Given the description of an element on the screen output the (x, y) to click on. 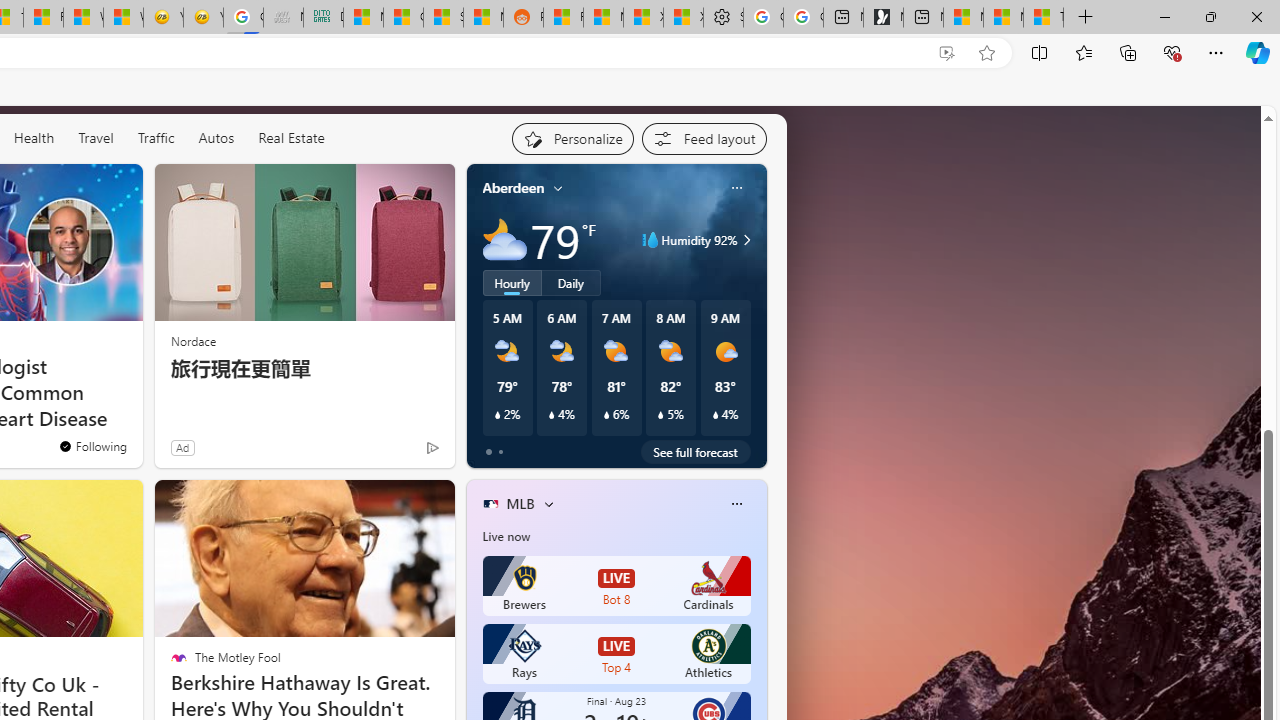
Class: icon-img (736, 503)
